Given the description of an element on the screen output the (x, y) to click on. 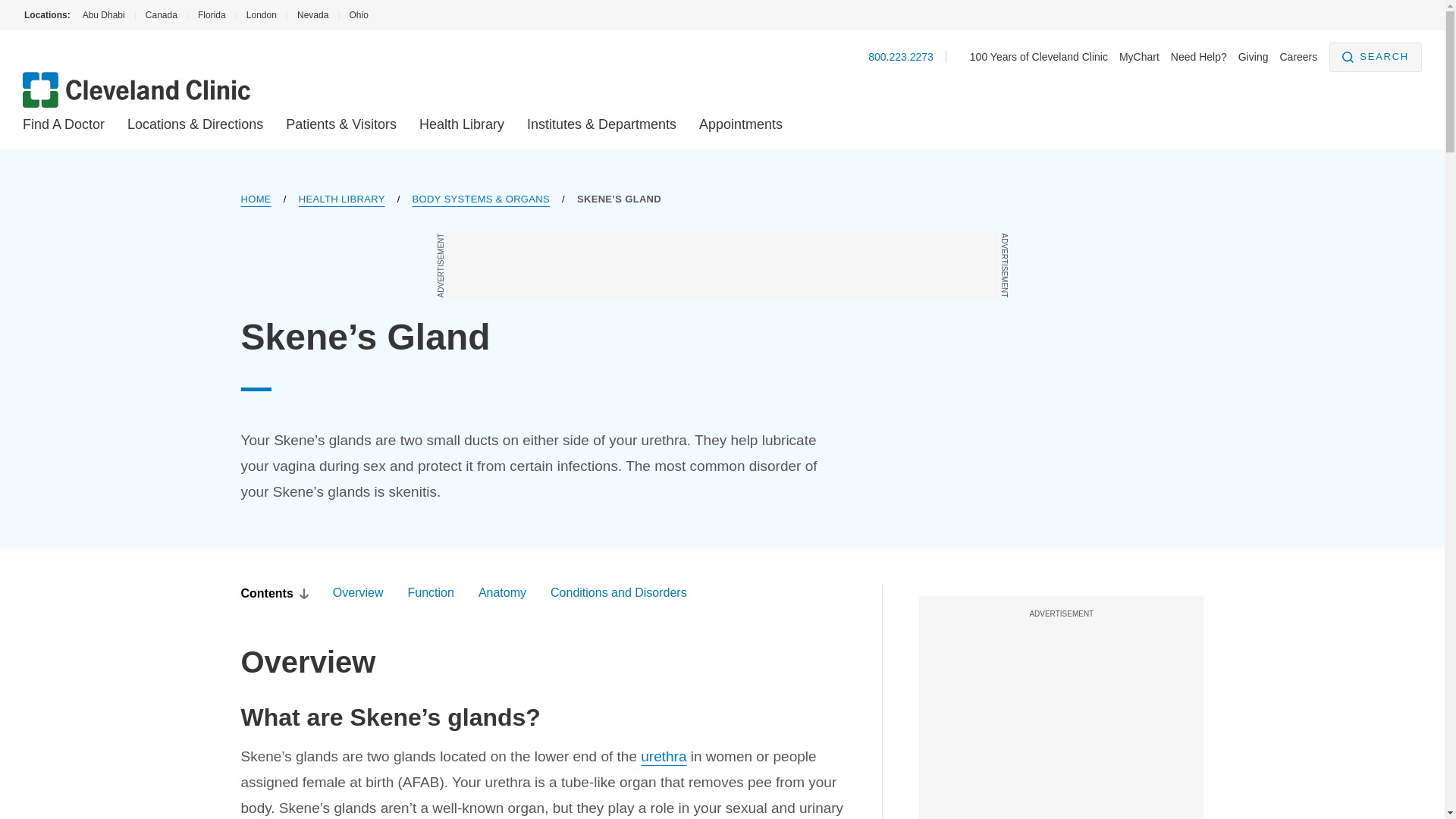
HOME (255, 198)
SEARCH (1375, 57)
MyChart (1138, 56)
urethra (662, 756)
Anatomy (502, 593)
800.223.2273 (900, 56)
Florida (211, 15)
Health Library (461, 124)
Giving (1253, 56)
Function (430, 593)
Need Help? (1198, 56)
Canada (161, 15)
Ohio (358, 15)
London (261, 15)
Careers (1298, 56)
